Given the description of an element on the screen output the (x, y) to click on. 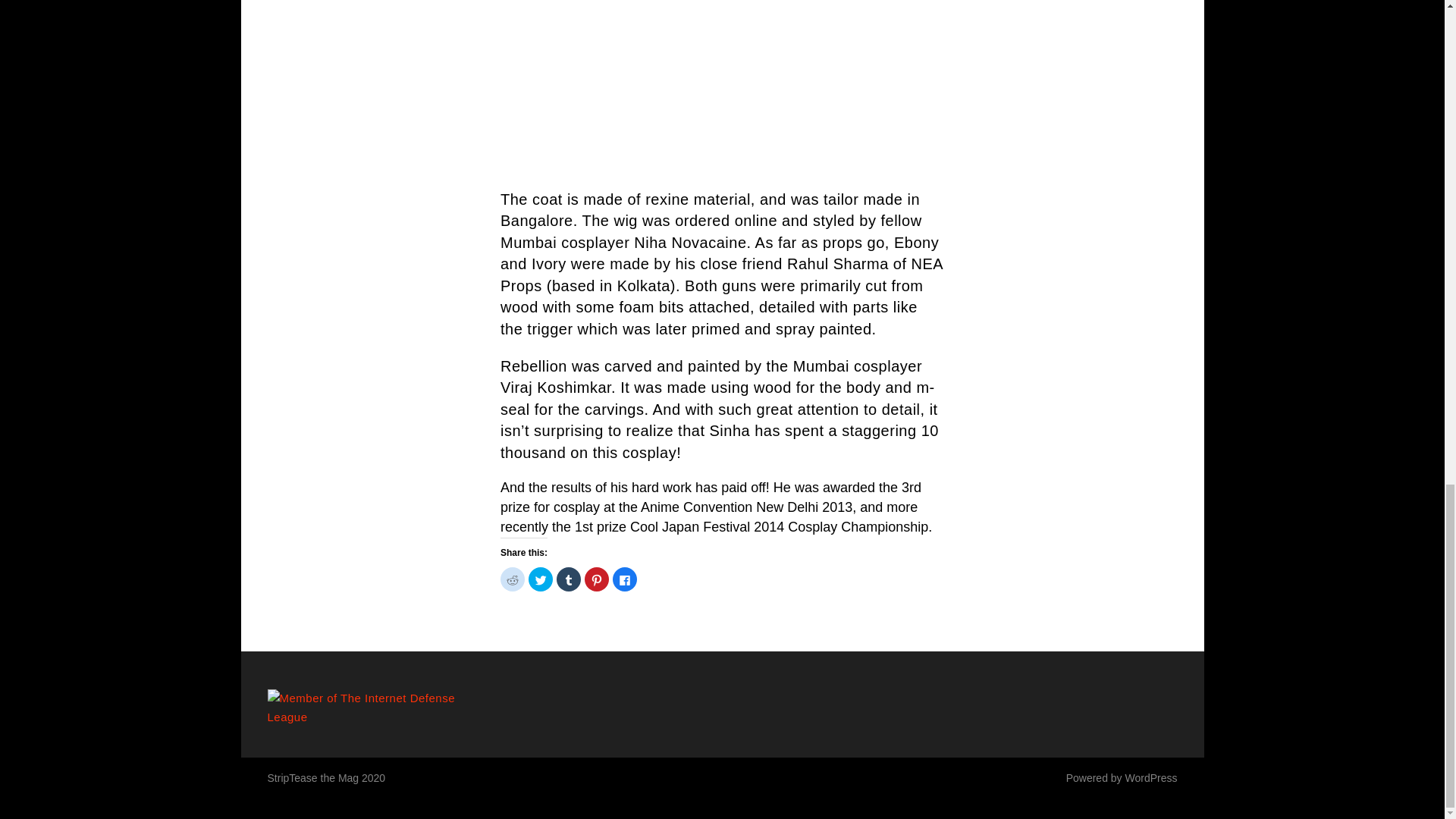
Click to share on Tumblr (568, 579)
Click to share on Reddit (512, 579)
Click to share on Facebook (624, 579)
Click to share on Pinterest (596, 579)
Click to share on Twitter (540, 579)
